Given the description of an element on the screen output the (x, y) to click on. 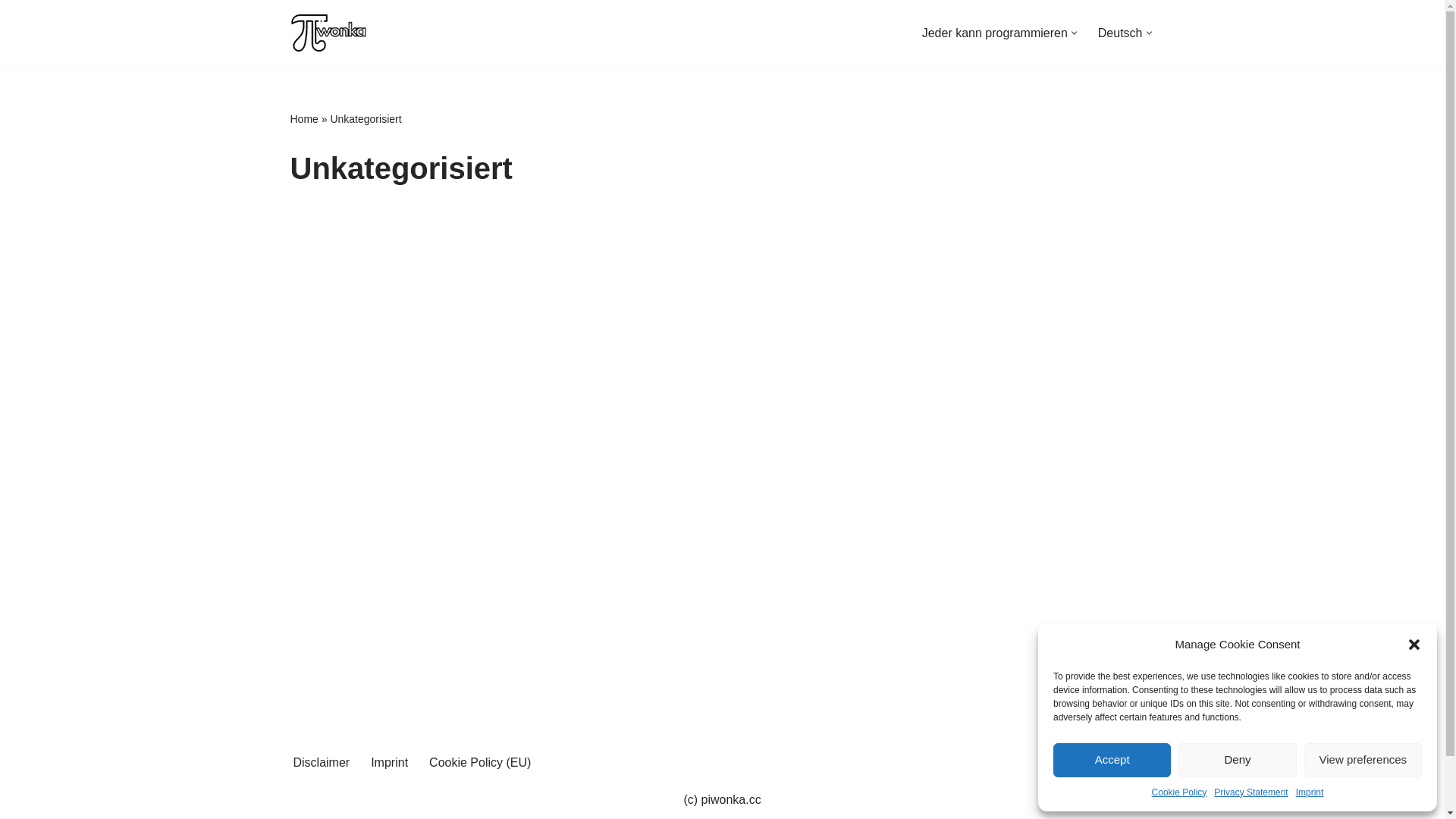
Deutsch Element type: text (1120, 32)
Imprint Element type: text (1309, 792)
Cookie Policy Element type: text (1179, 792)
Privacy Statement Element type: text (1250, 792)
Home Element type: text (303, 118)
Accept Element type: text (1111, 760)
Cookie Policy (EU) Element type: text (479, 762)
Deny Element type: text (1236, 760)
Jeder kann programmieren Element type: text (994, 32)
Zum Inhalt springen Element type: text (11, 31)
View preferences Element type: text (1362, 760)
Disclaimer Element type: text (320, 762)
Imprint Element type: text (388, 762)
